Given the description of an element on the screen output the (x, y) to click on. 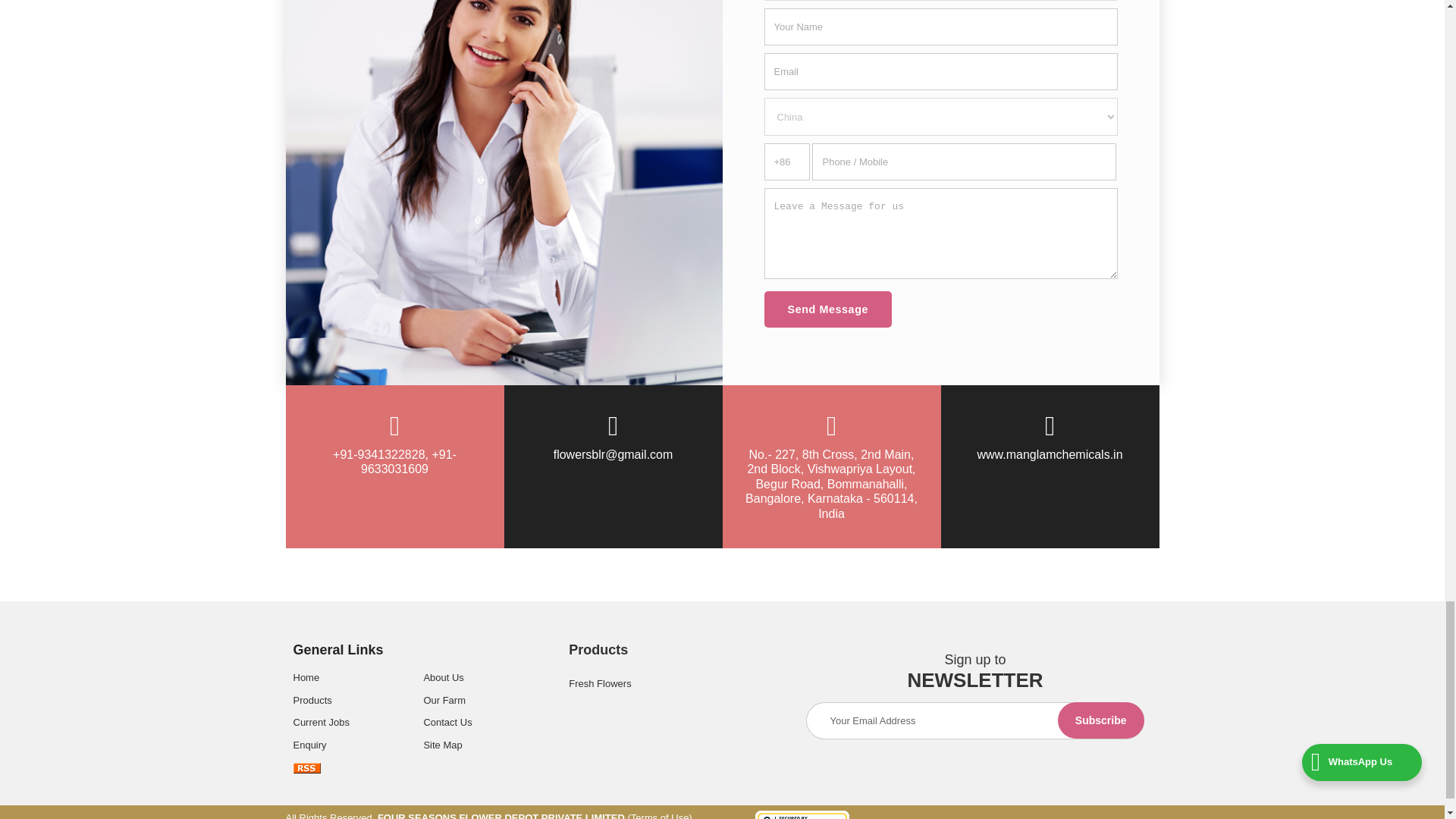
Send Message (828, 309)
Subscribe (1101, 719)
Send Message (828, 309)
